Given the description of an element on the screen output the (x, y) to click on. 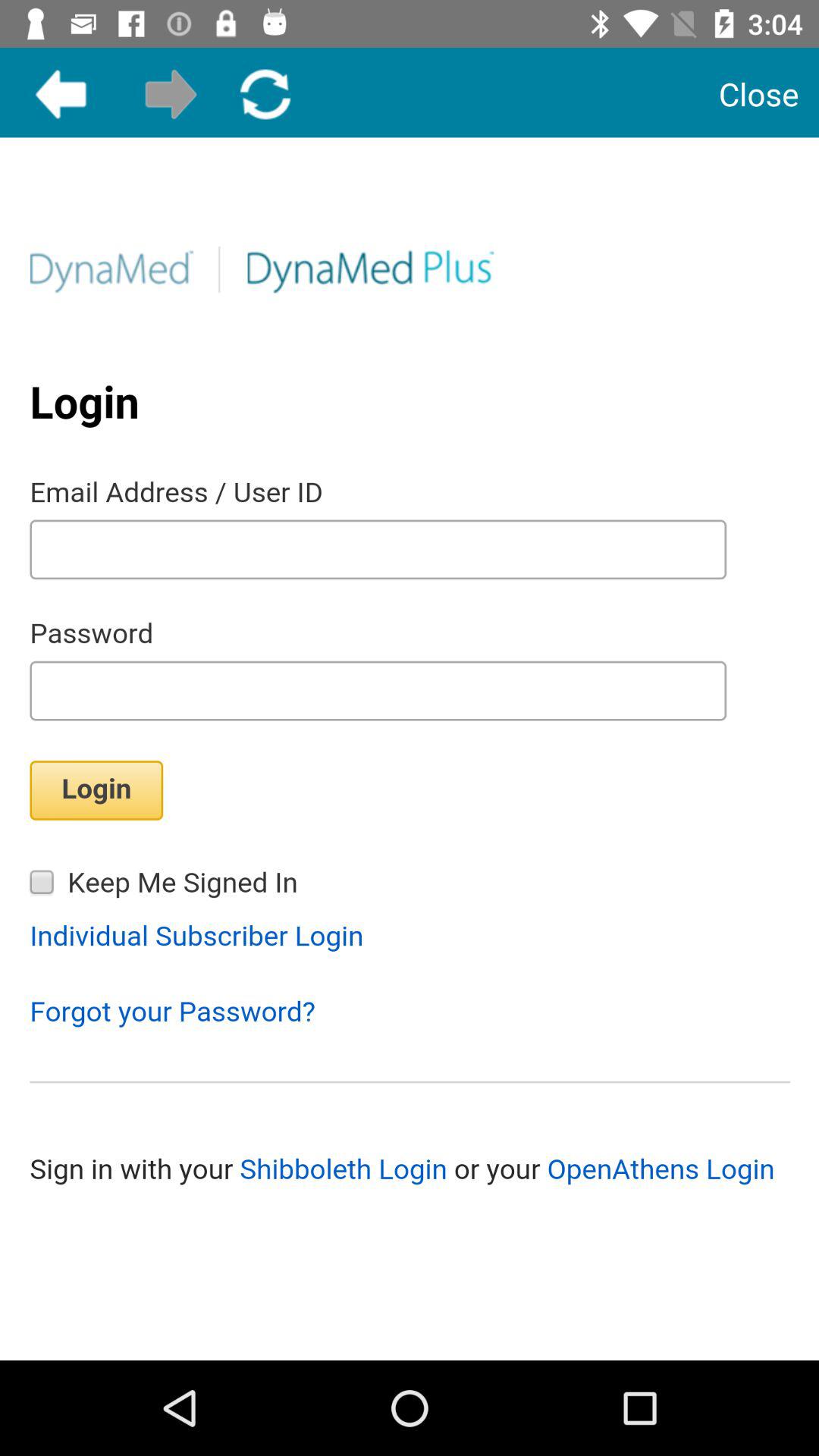
go back (61, 94)
